Given the description of an element on the screen output the (x, y) to click on. 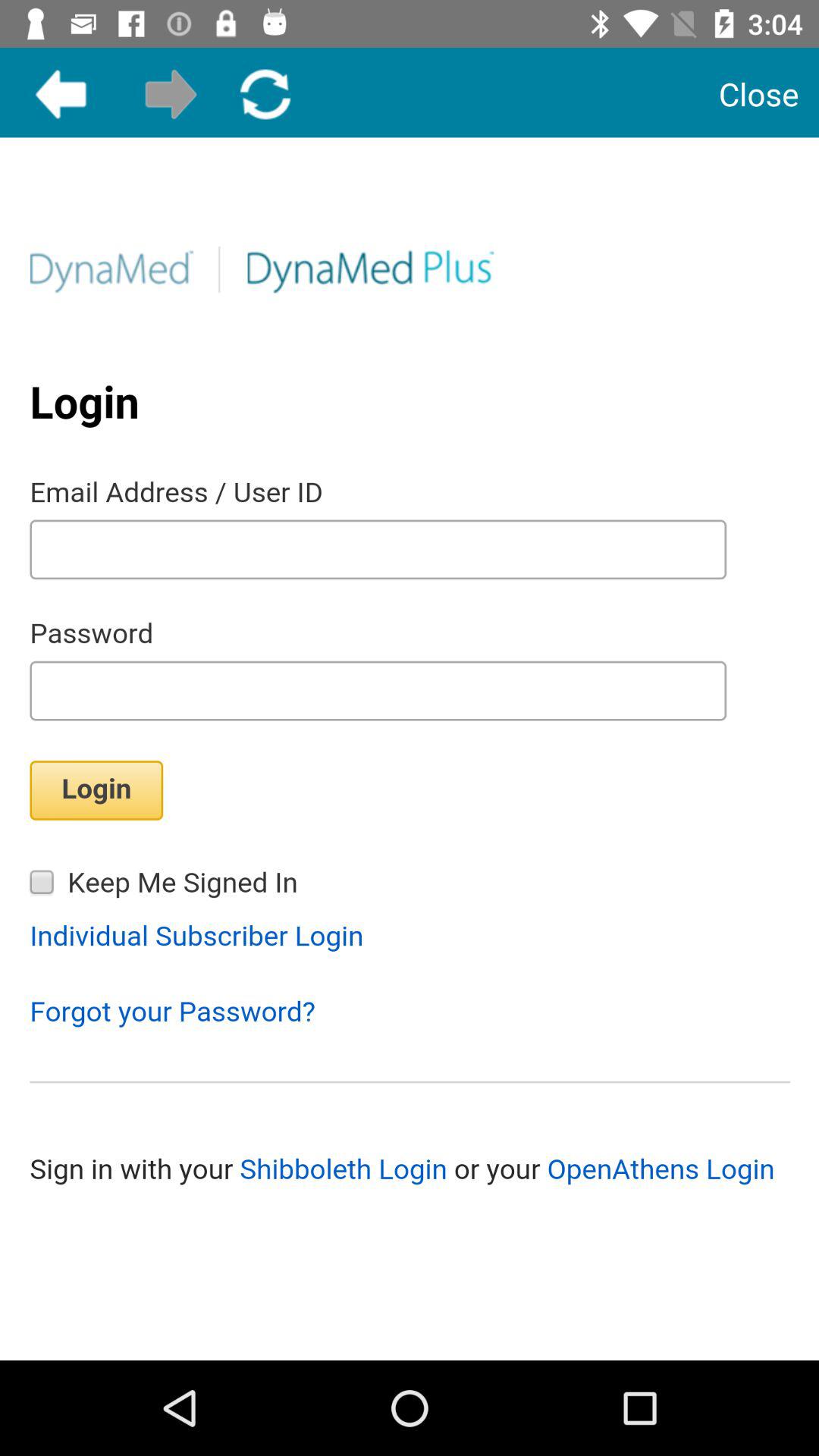
go back (61, 94)
